Given the description of an element on the screen output the (x, y) to click on. 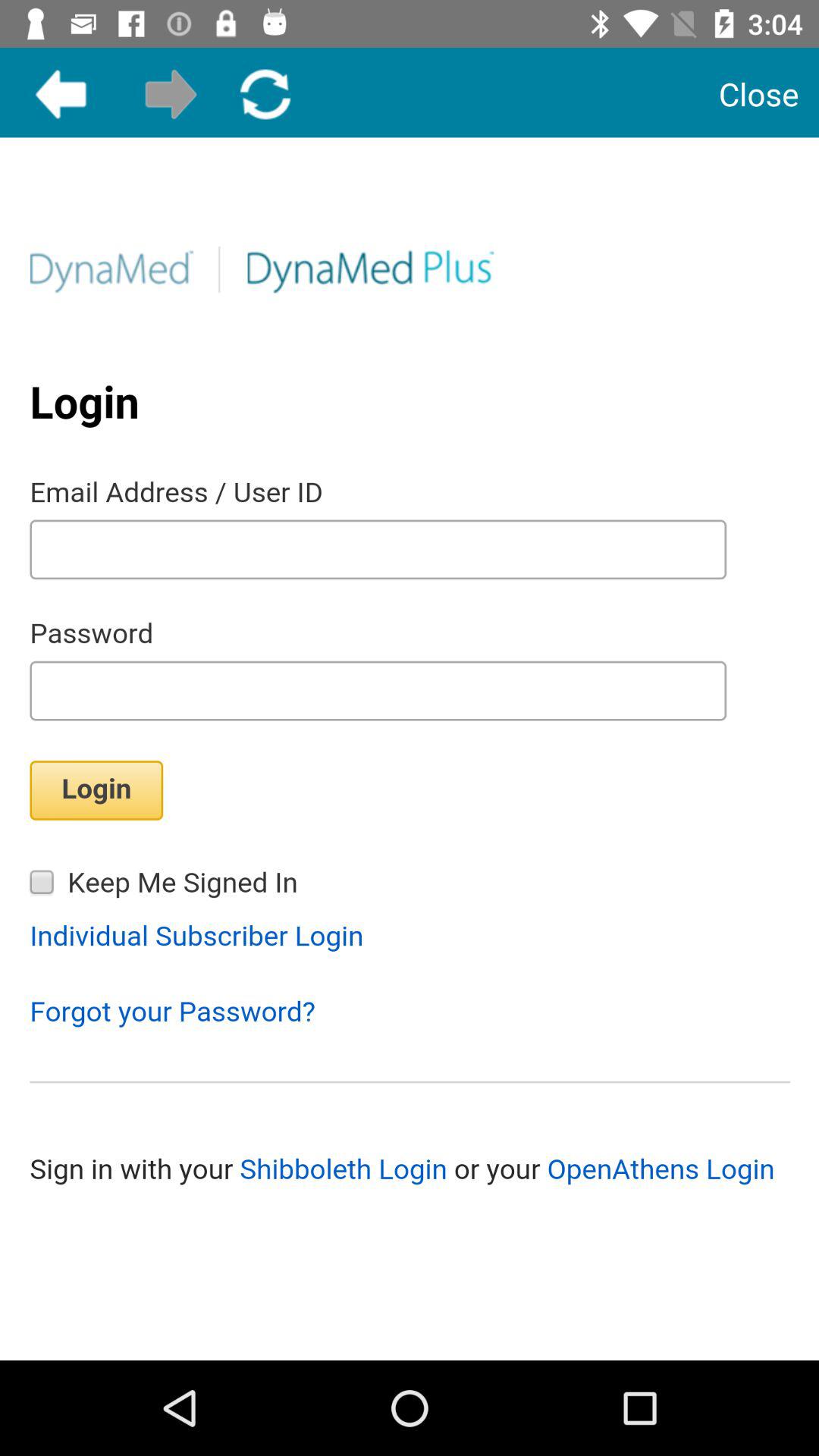
go back (61, 94)
